Given the description of an element on the screen output the (x, y) to click on. 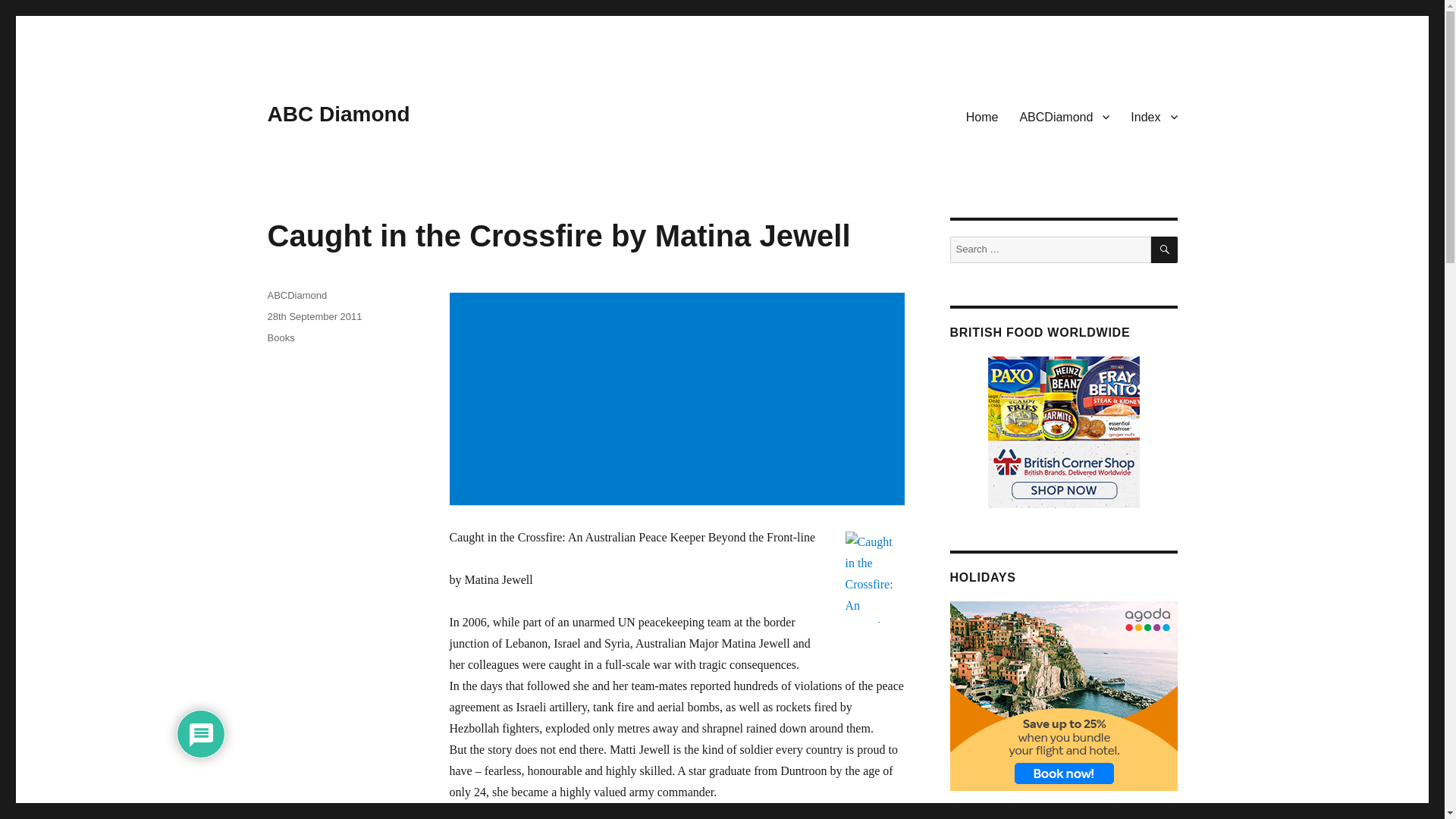
Index (1153, 116)
Home (982, 116)
ABC Diamond (337, 114)
ABCDiamond (1064, 116)
